Given the description of an element on the screen output the (x, y) to click on. 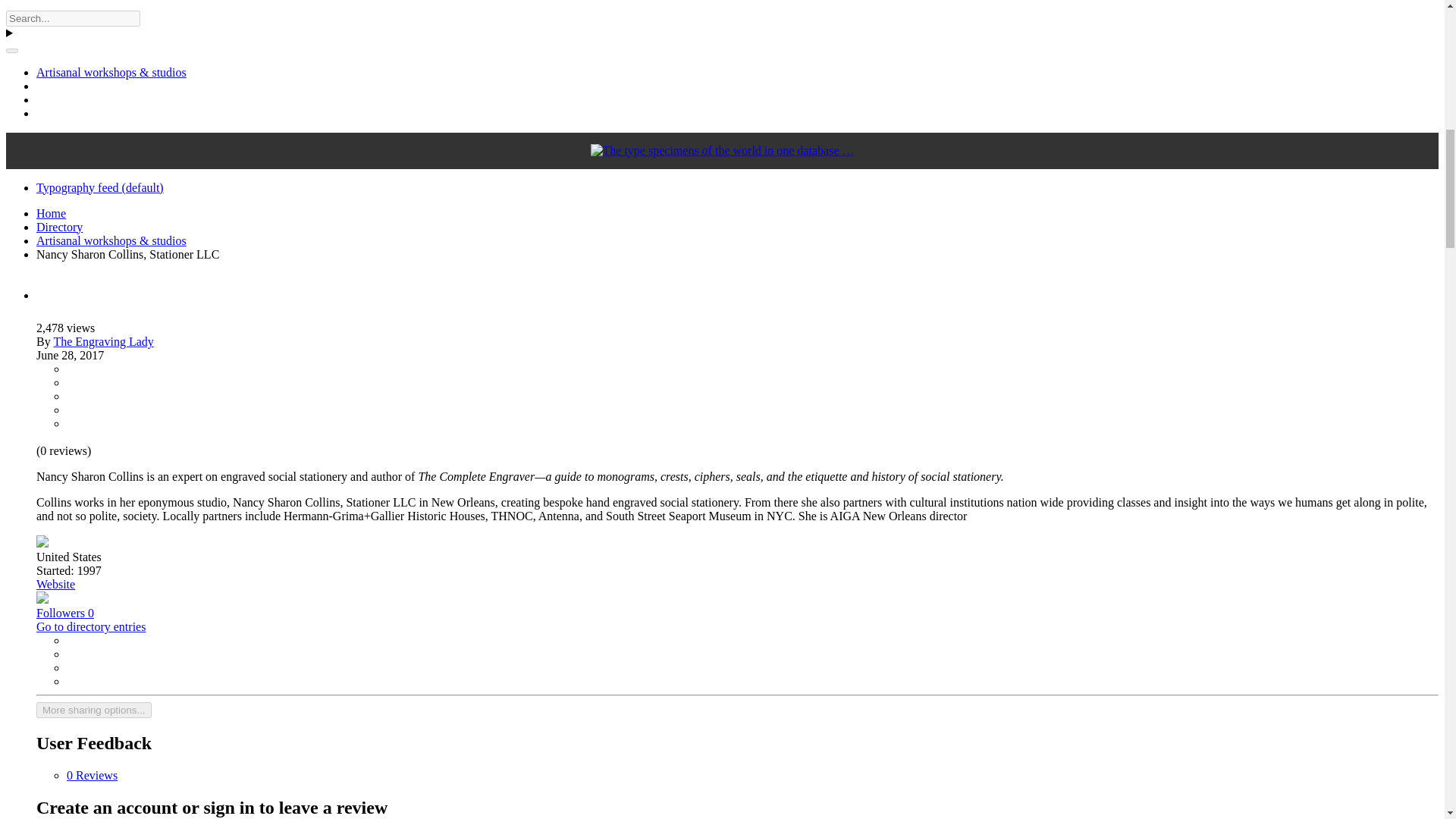
Home (50, 213)
Go to The Engraving Lady's profile (102, 341)
0 Reviews (91, 775)
Sign in to follow this (65, 612)
